Given the description of an element on the screen output the (x, y) to click on. 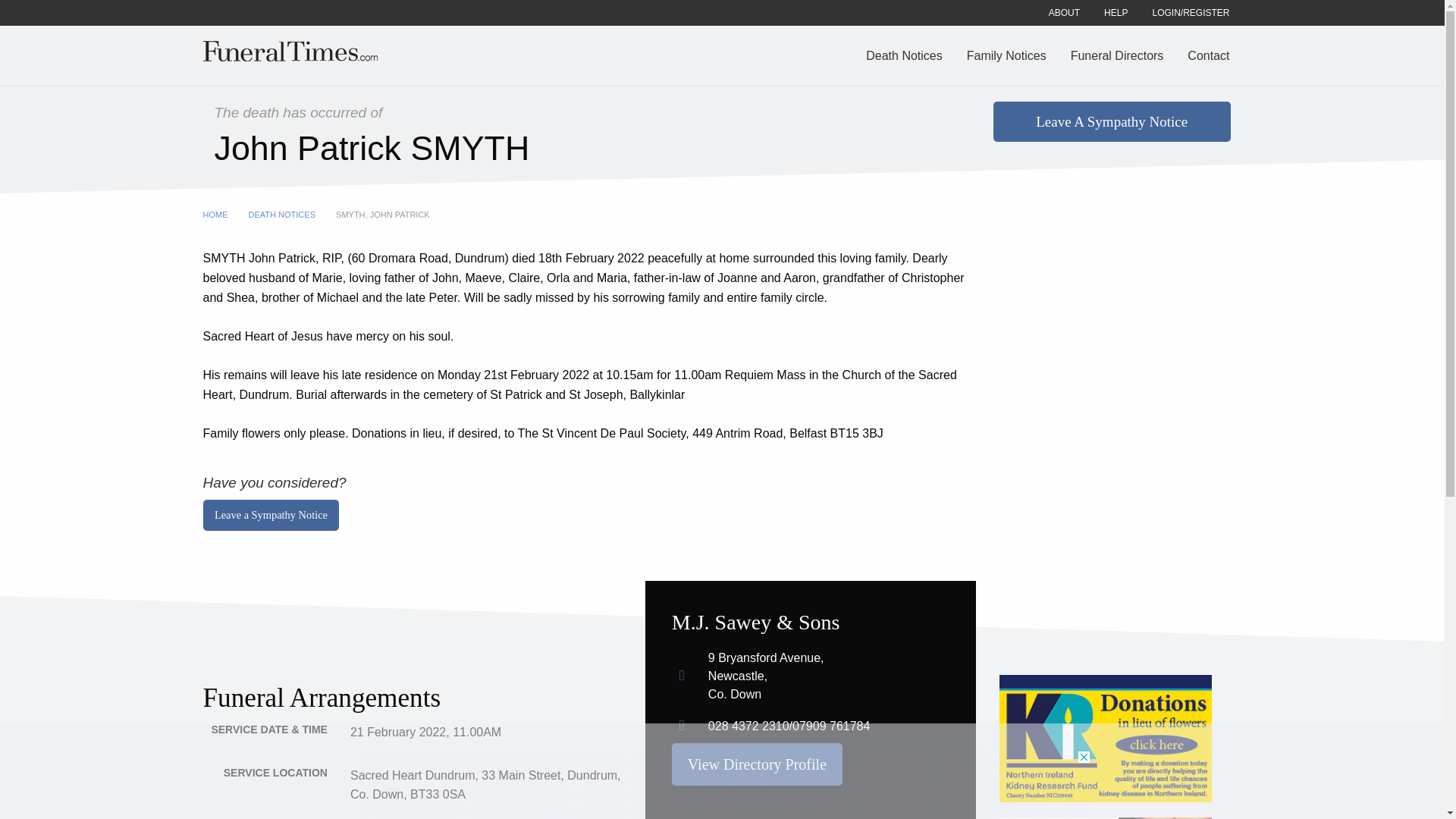
Contact (1207, 54)
HOME (215, 214)
Family Notices (1006, 54)
Leave a Sympathy Notice (271, 514)
DEATH NOTICES (281, 214)
ABOUT (1064, 12)
3rd party ad content (722, 785)
HELP (1116, 12)
Leave A Sympathy Notice (1111, 121)
View Directory Profile (757, 763)
Funeral Directors (1117, 54)
Death Notices (904, 54)
